Given the description of an element on the screen output the (x, y) to click on. 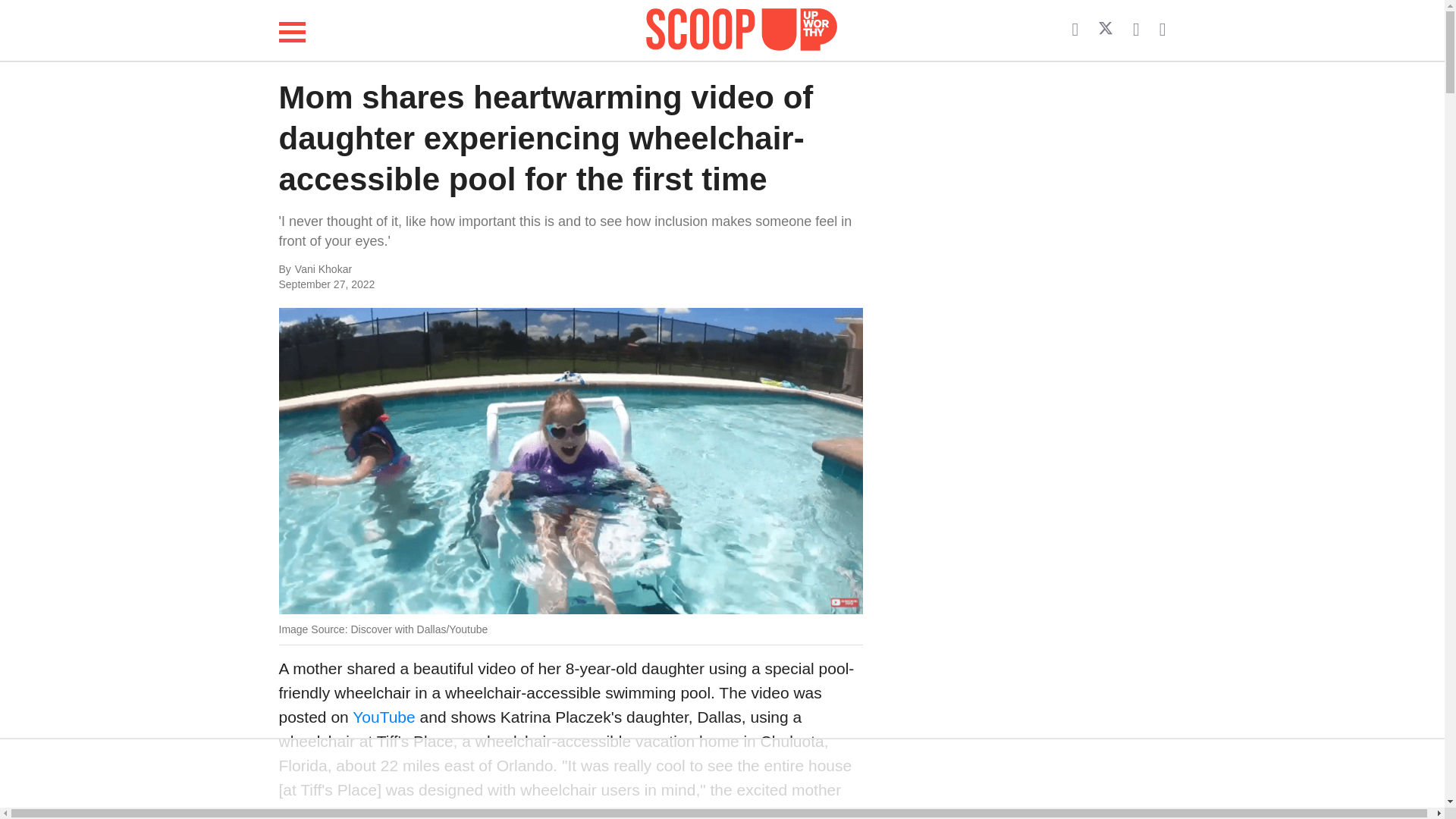
Vani Khokar (445, 269)
SCOOP UPWORTHY (741, 27)
SCOOP UPWORTHY (741, 29)
YouTube (383, 716)
